Given the description of an element on the screen output the (x, y) to click on. 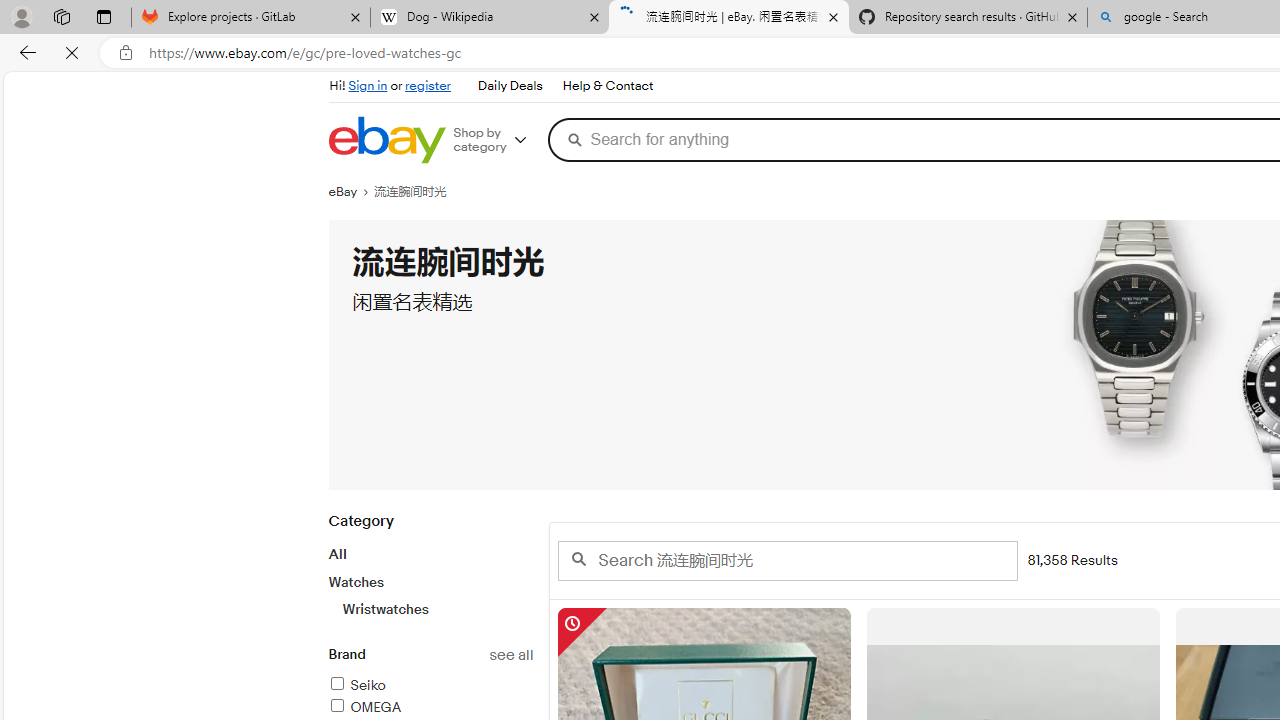
eBay Home (386, 139)
register (427, 85)
eBay Home (386, 139)
Daily Deals (509, 85)
Sign in (367, 85)
